Given the description of an element on the screen output the (x, y) to click on. 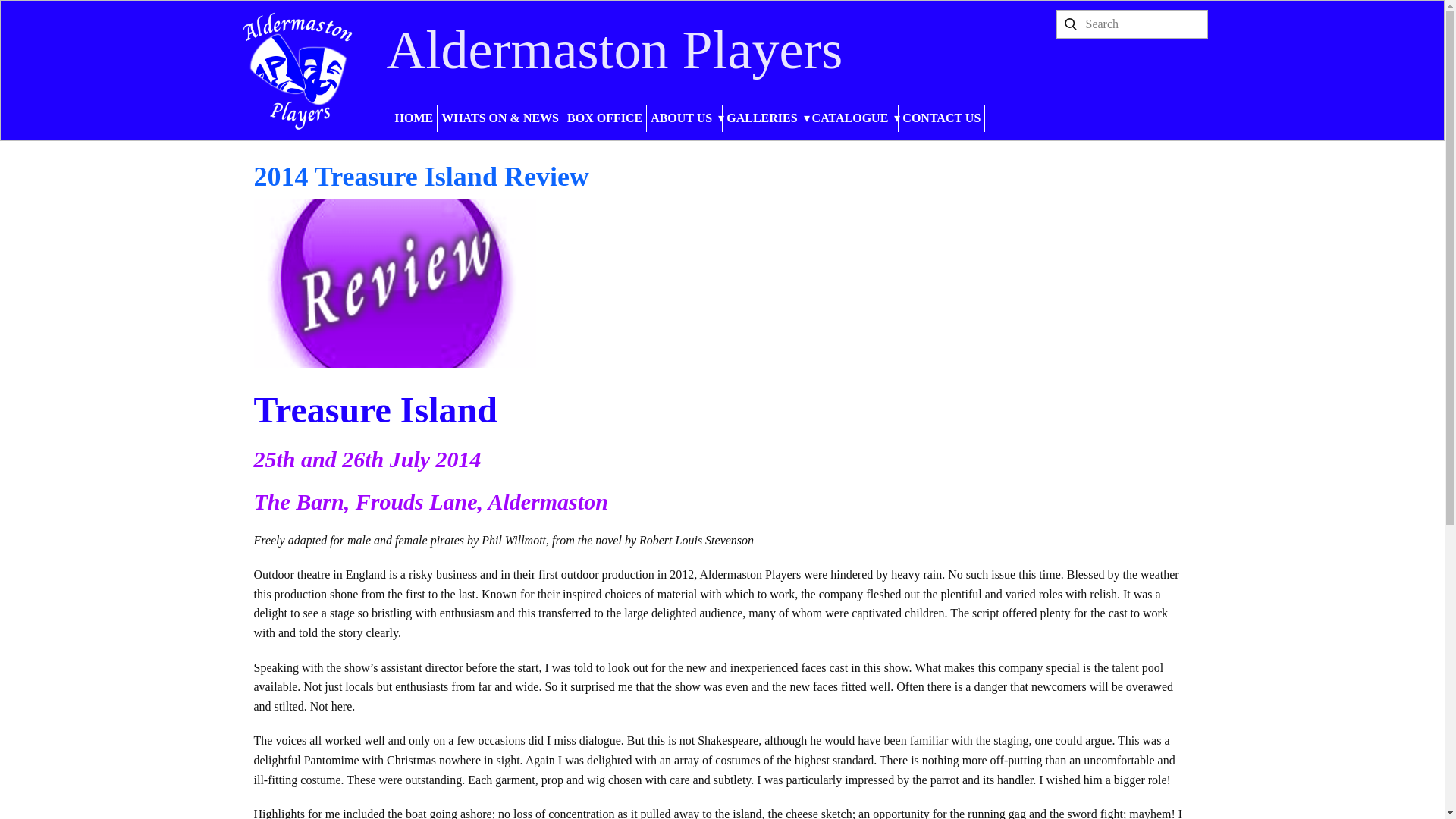
BOX OFFICE (604, 117)
HOME (414, 117)
Aldermaston Players (297, 70)
ABOUT US (684, 117)
Aldermaston Players (615, 49)
